Given the description of an element on the screen output the (x, y) to click on. 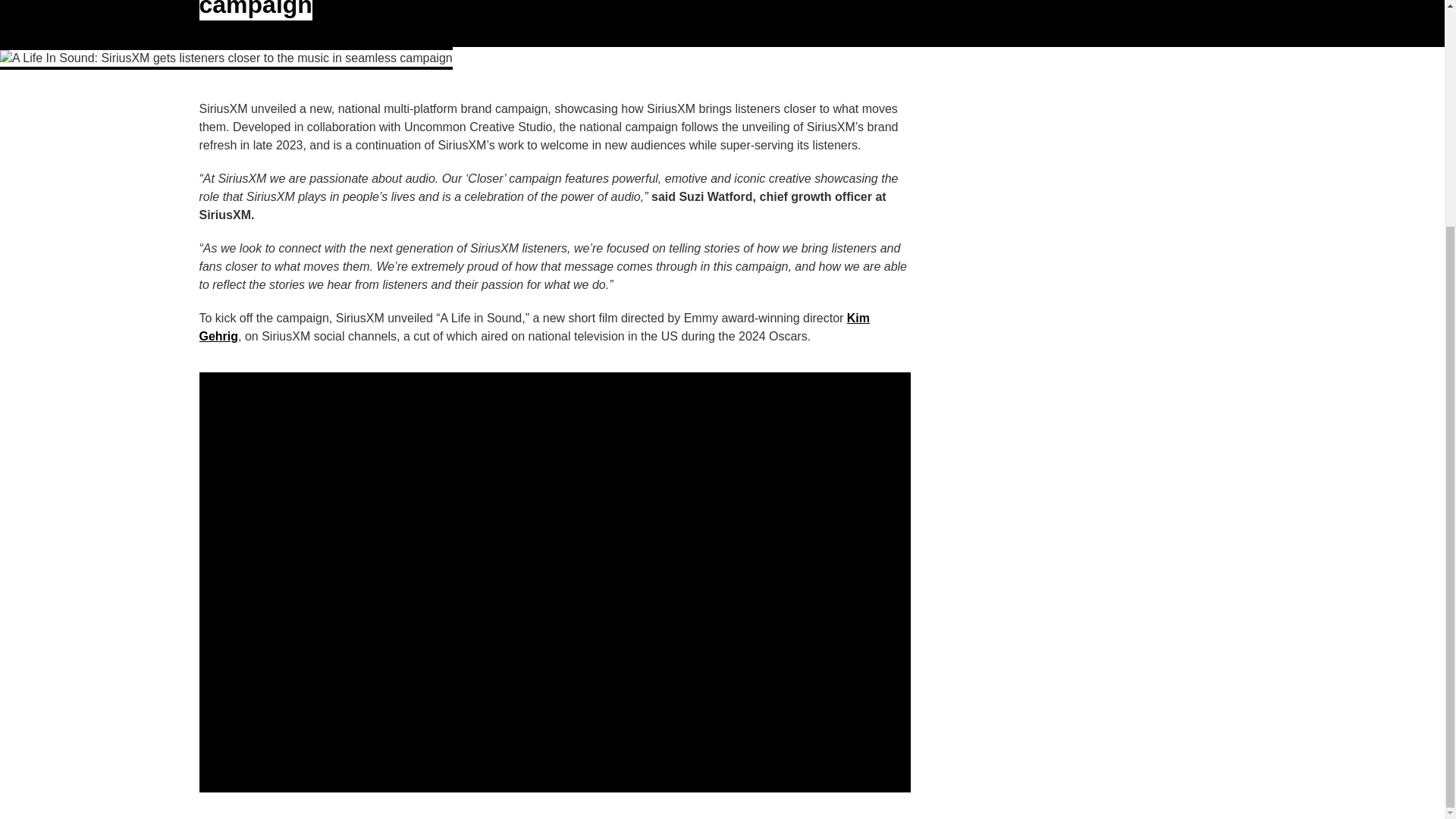
Kim Gehrig (533, 327)
